Given the description of an element on the screen output the (x, y) to click on. 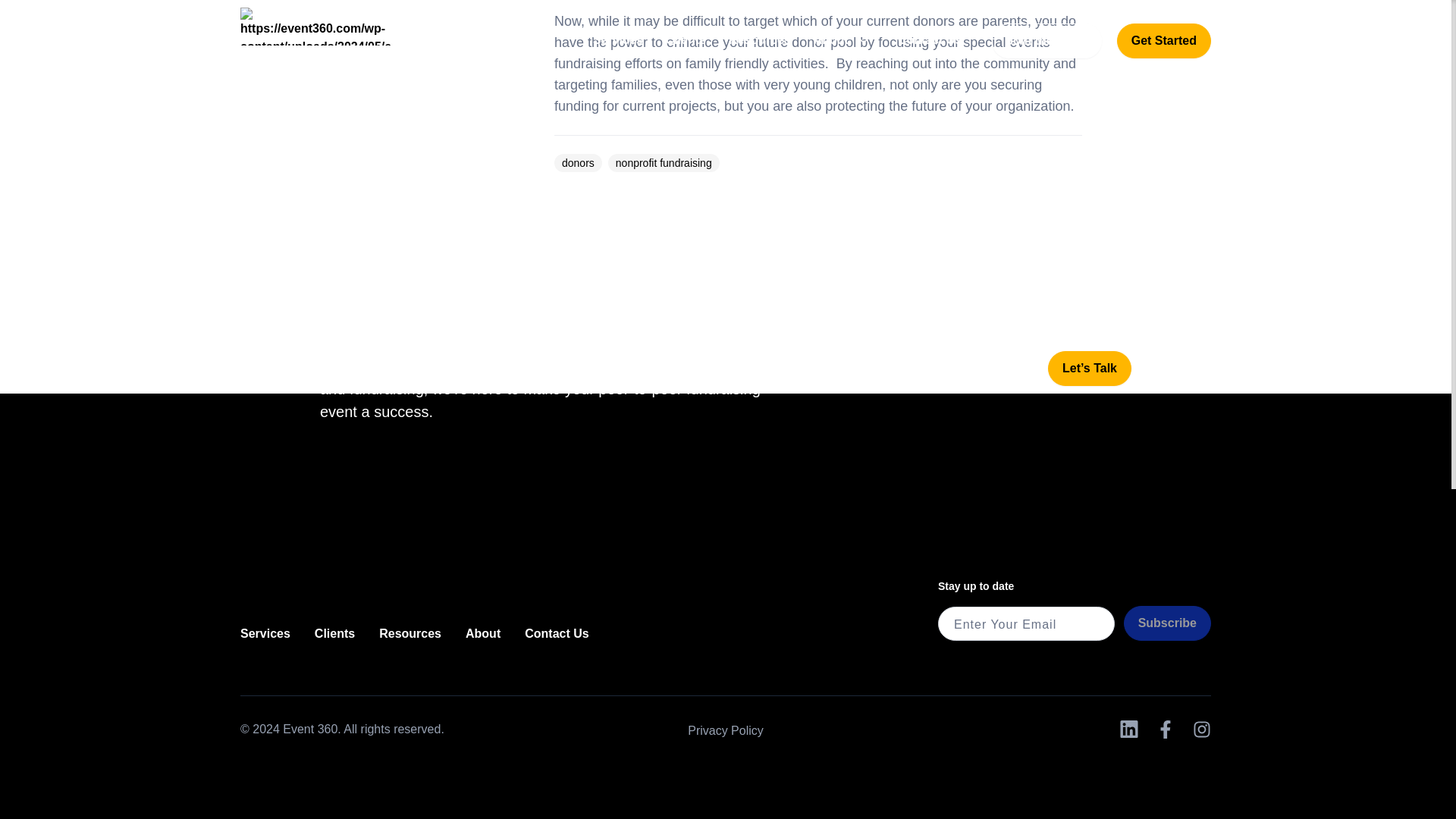
donors (578, 162)
nonprofit fundraising (663, 162)
Contact Us (556, 633)
Services (264, 633)
Subscribe (1167, 623)
Privacy Policy (724, 730)
About (482, 633)
Clients (334, 633)
Resources (409, 633)
